Given the description of an element on the screen output the (x, y) to click on. 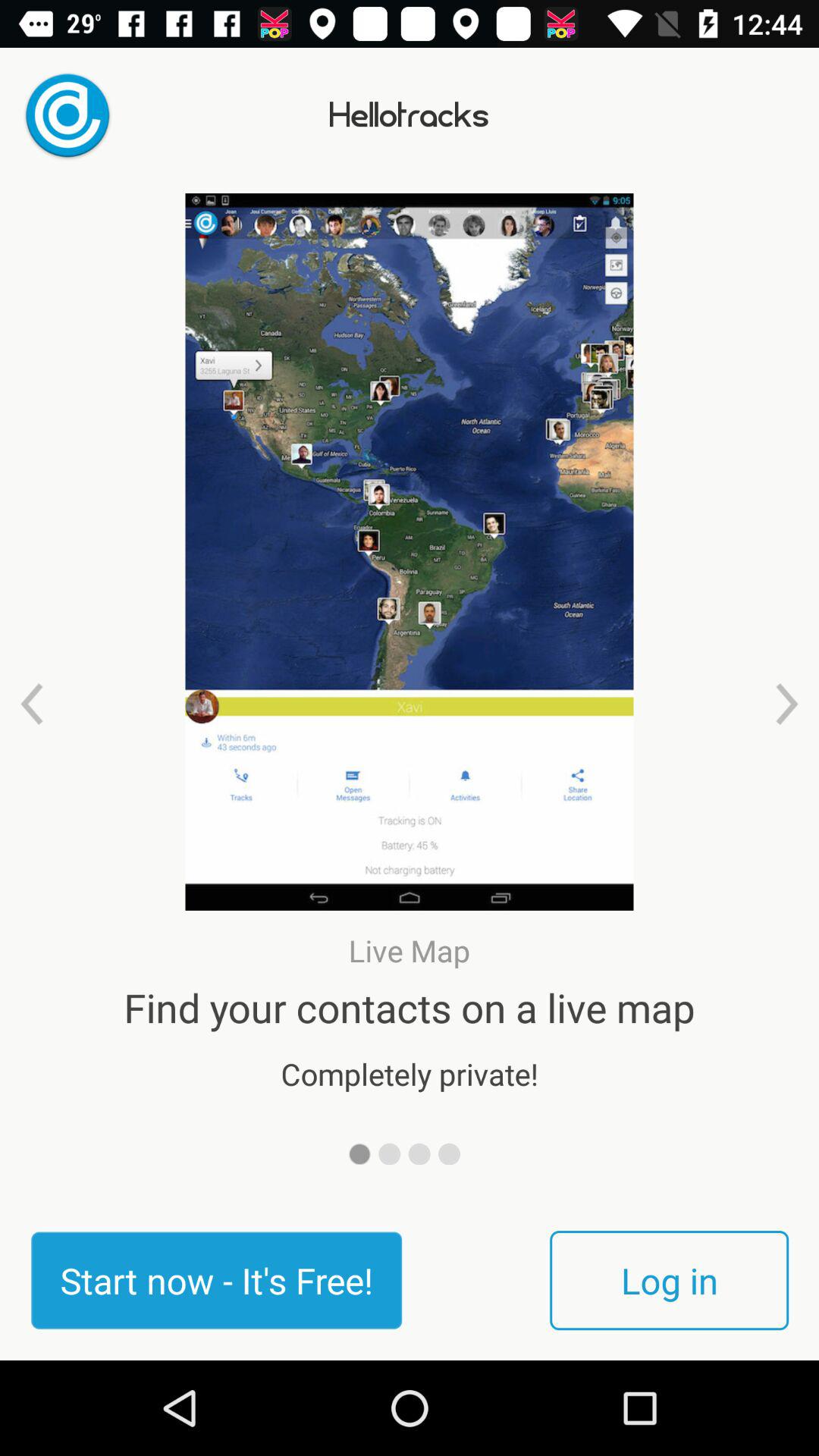
launch log in at the bottom right corner (668, 1280)
